Given the description of an element on the screen output the (x, y) to click on. 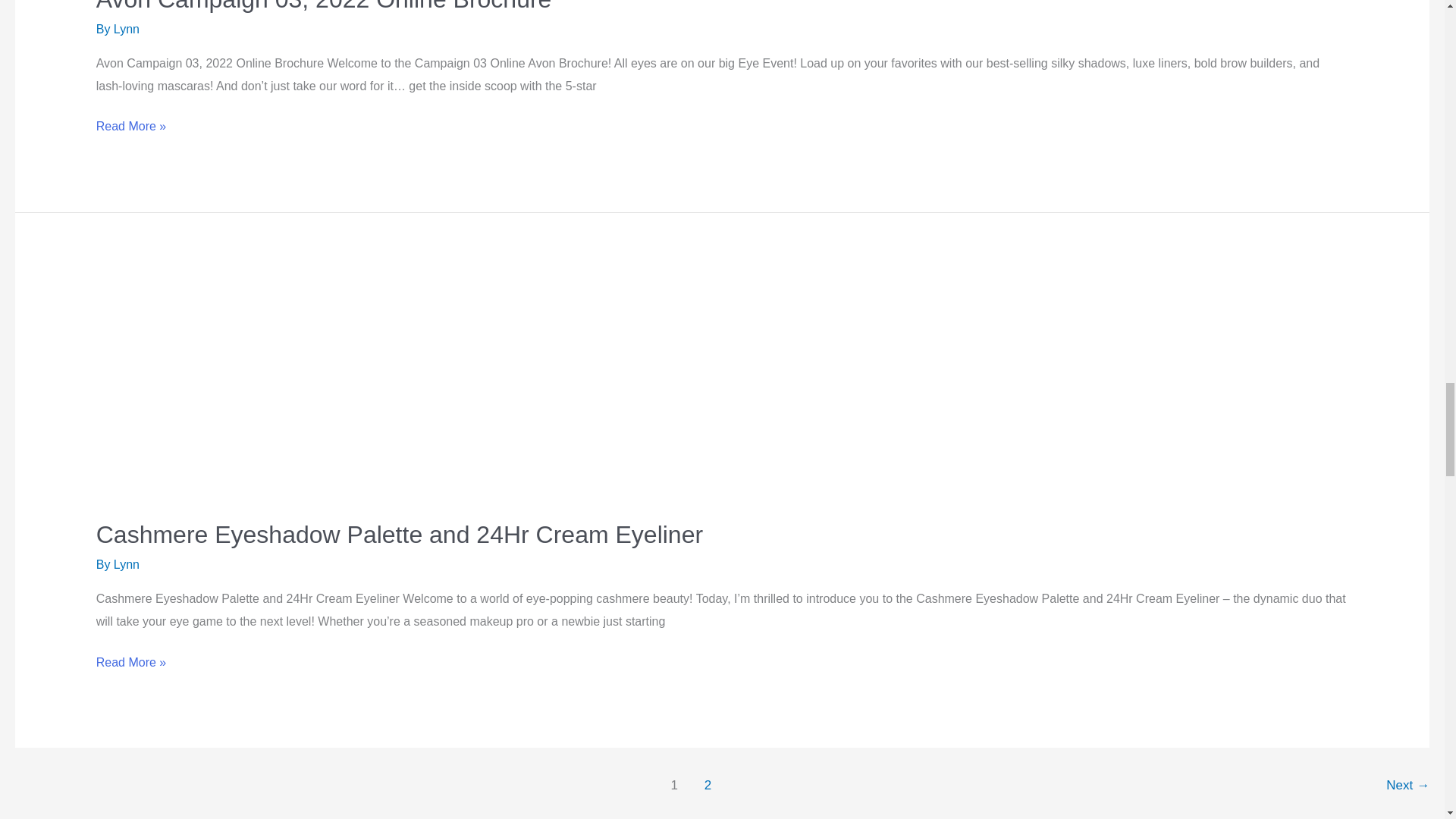
Lynn (126, 29)
Cashmere Eyeshadow Palette and 24Hr Cream Eyeliner (399, 533)
Lynn (126, 563)
View all posts by Lynn (126, 29)
Avon Campaign 03, 2022 Online Brochure (323, 6)
View all posts by Lynn (126, 563)
